Given the description of an element on the screen output the (x, y) to click on. 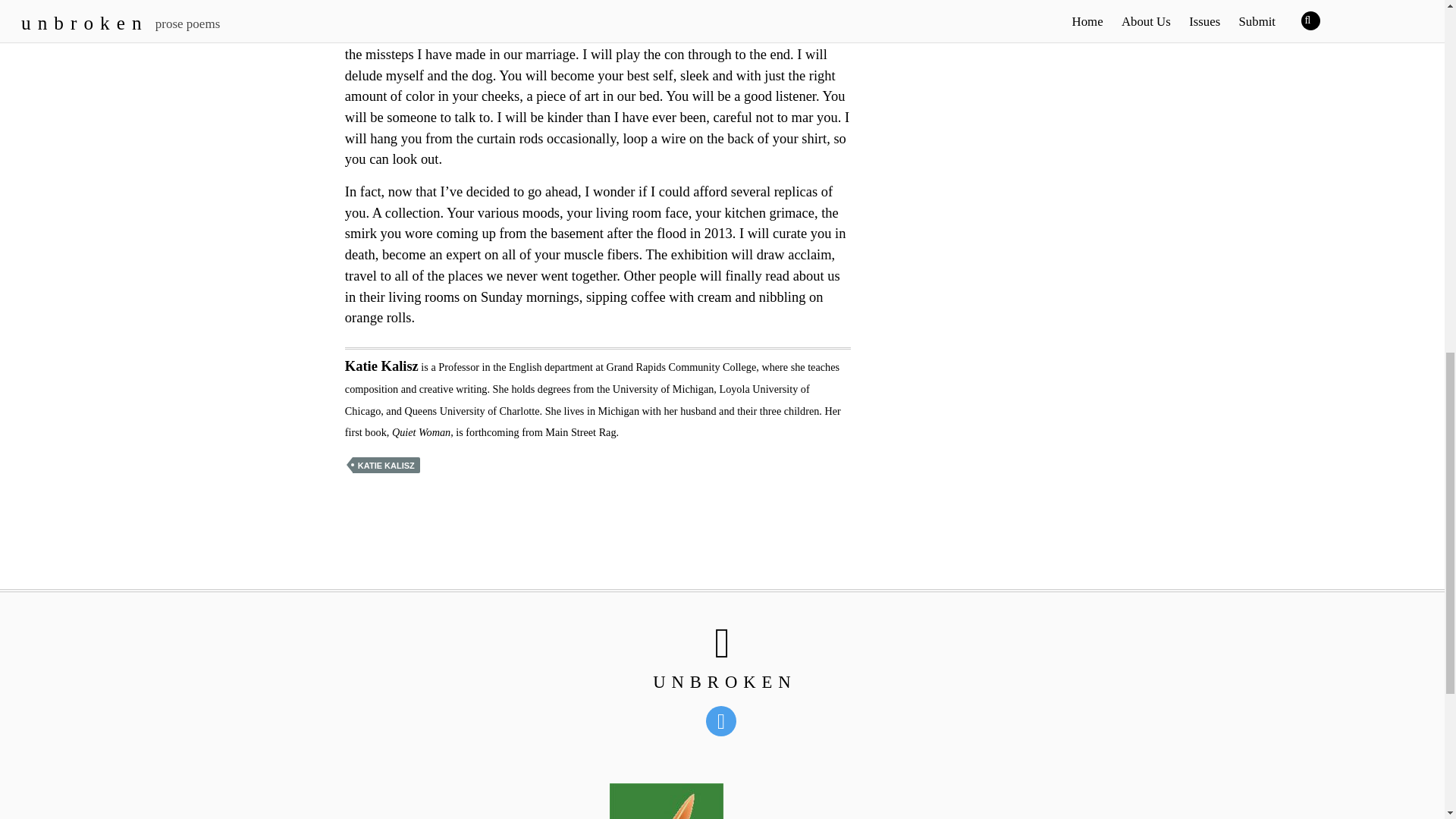
KATIE KALISZ (386, 465)
Twitter (723, 720)
U n b r o k e n (722, 681)
U N B R O K E N (722, 681)
